Given the description of an element on the screen output the (x, y) to click on. 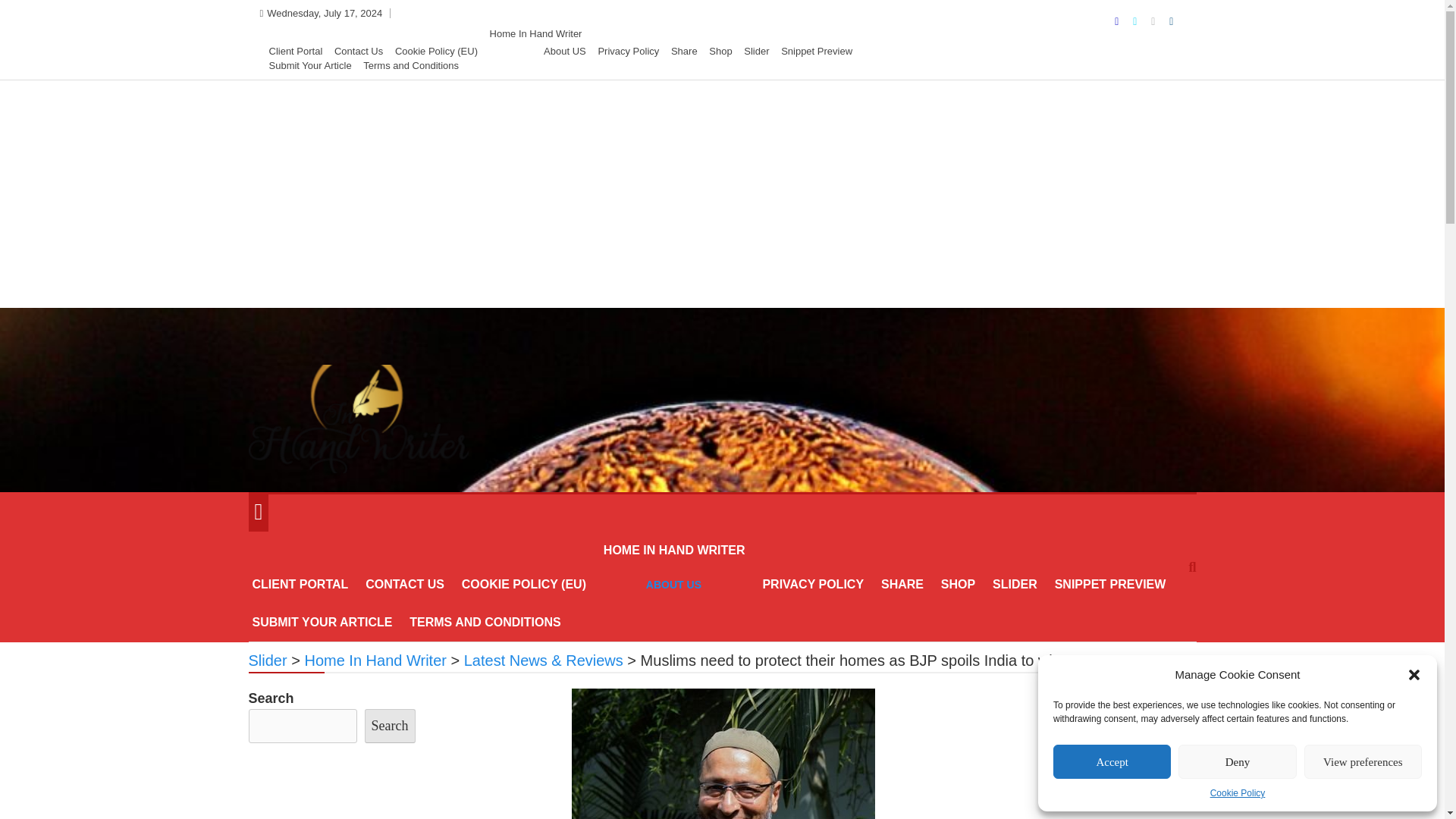
Accept (1111, 761)
Deny (1236, 761)
Linkdin (1171, 21)
Submit Your Article (308, 65)
Facebook (1118, 21)
CONTACT US (404, 584)
Cookie Policy (1237, 793)
Slider (756, 50)
Contact Us (358, 50)
Snippet Preview (815, 50)
Go to Slider. (267, 660)
HOME IN HAND WRITER (674, 550)
CLIENT PORTAL (300, 584)
Privacy Policy (627, 50)
